Given the description of an element on the screen output the (x, y) to click on. 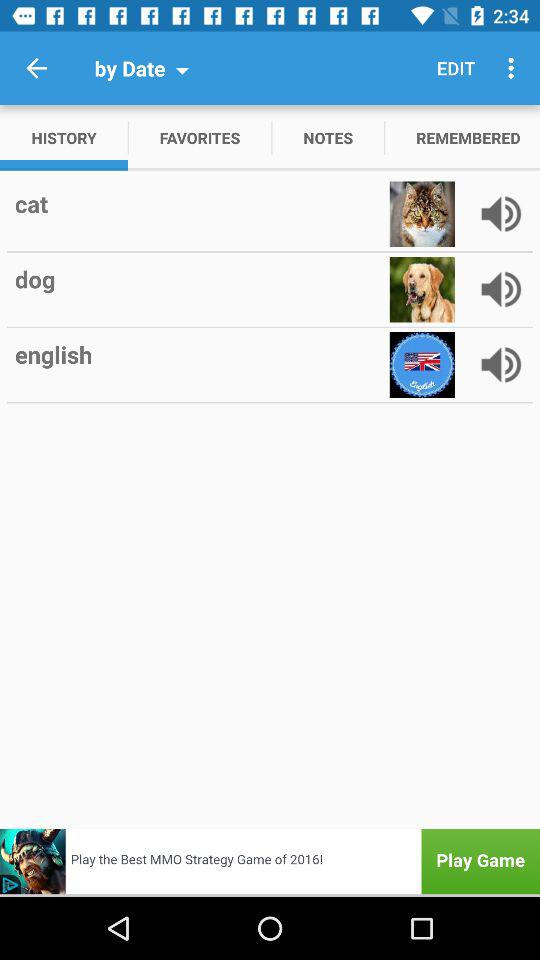
choose item to the right of the notes item (455, 67)
